Given the description of an element on the screen output the (x, y) to click on. 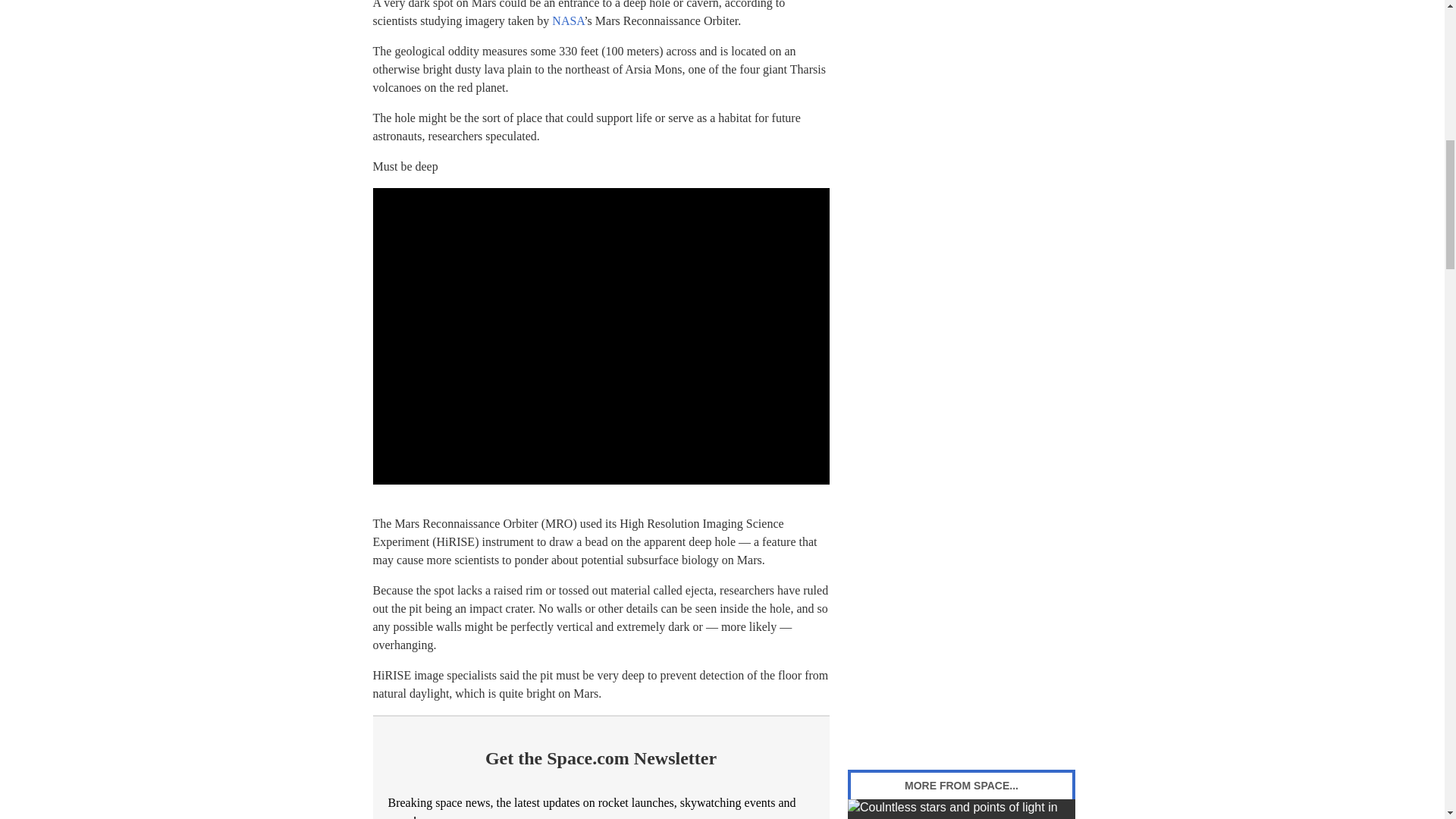
X-rays reveal secret gas in huge and distant galaxy cluster  (961, 809)
